Given the description of an element on the screen output the (x, y) to click on. 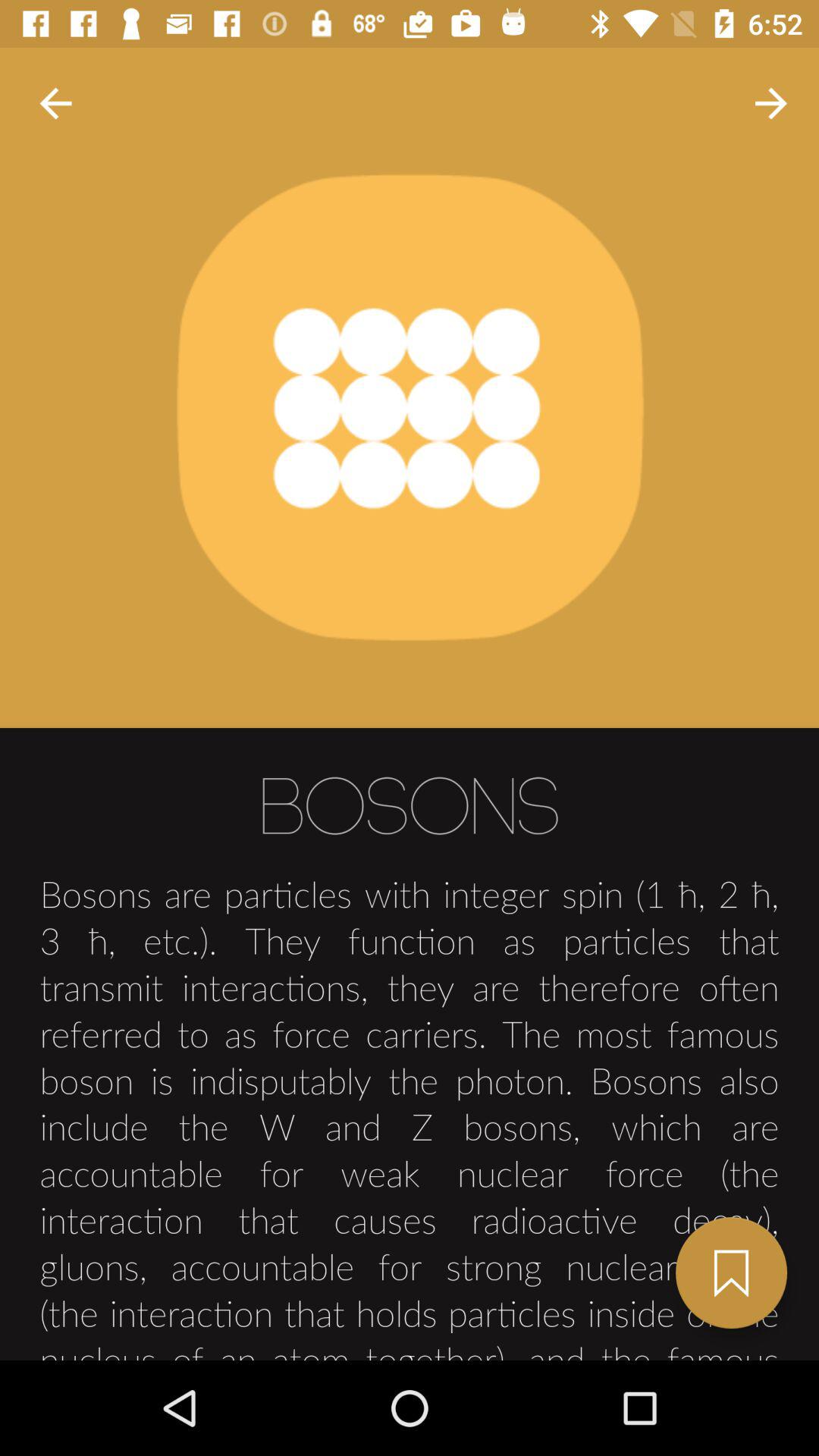
return to prior page (55, 103)
